Given the description of an element on the screen output the (x, y) to click on. 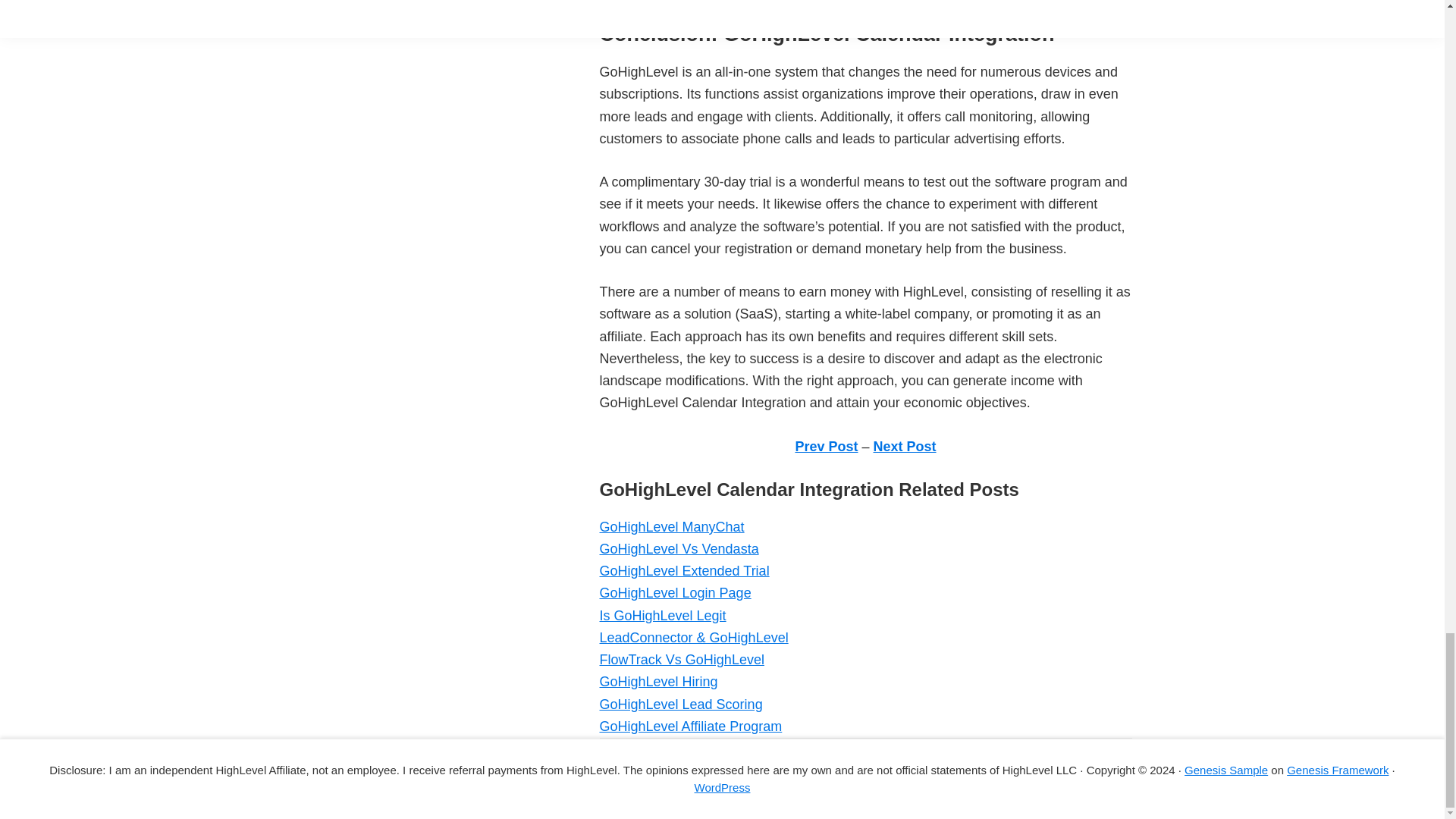
Next Post (904, 446)
FlowTrack Vs GoHighLevel (680, 659)
GoHighLevel Login Page (674, 592)
Is GoHighLevel Legit (661, 615)
GoHighLevel Login Page (674, 592)
GoHighLevel ManyChat (671, 526)
GoHighLevel Hiring (657, 681)
Is GoHighLevel Legit (661, 615)
GoHighLevel Vs Vendasta (678, 548)
GoHighLevel Extended Trial (683, 570)
